Given the description of an element on the screen output the (x, y) to click on. 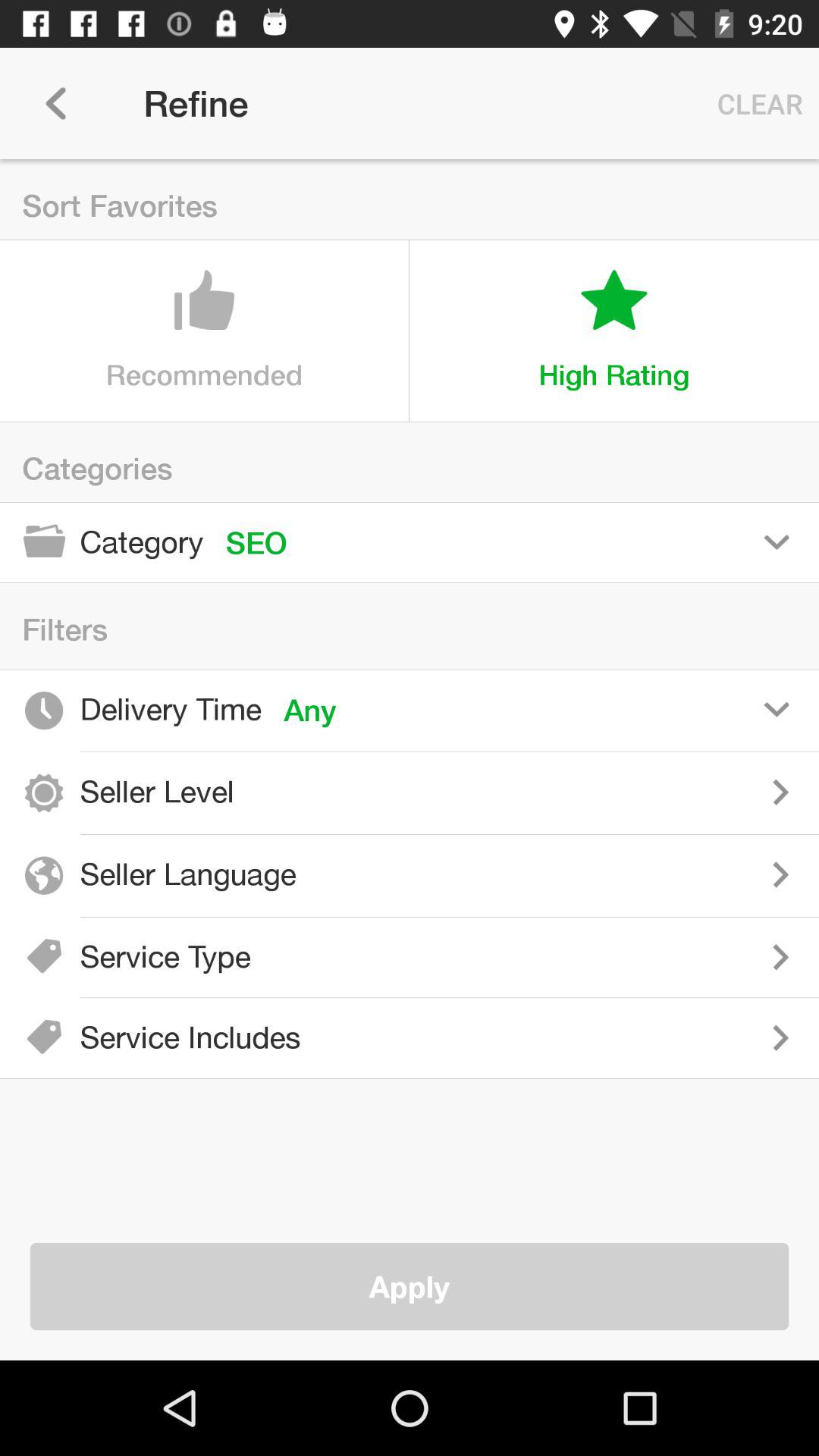
select clear (756, 103)
